Given the description of an element on the screen output the (x, y) to click on. 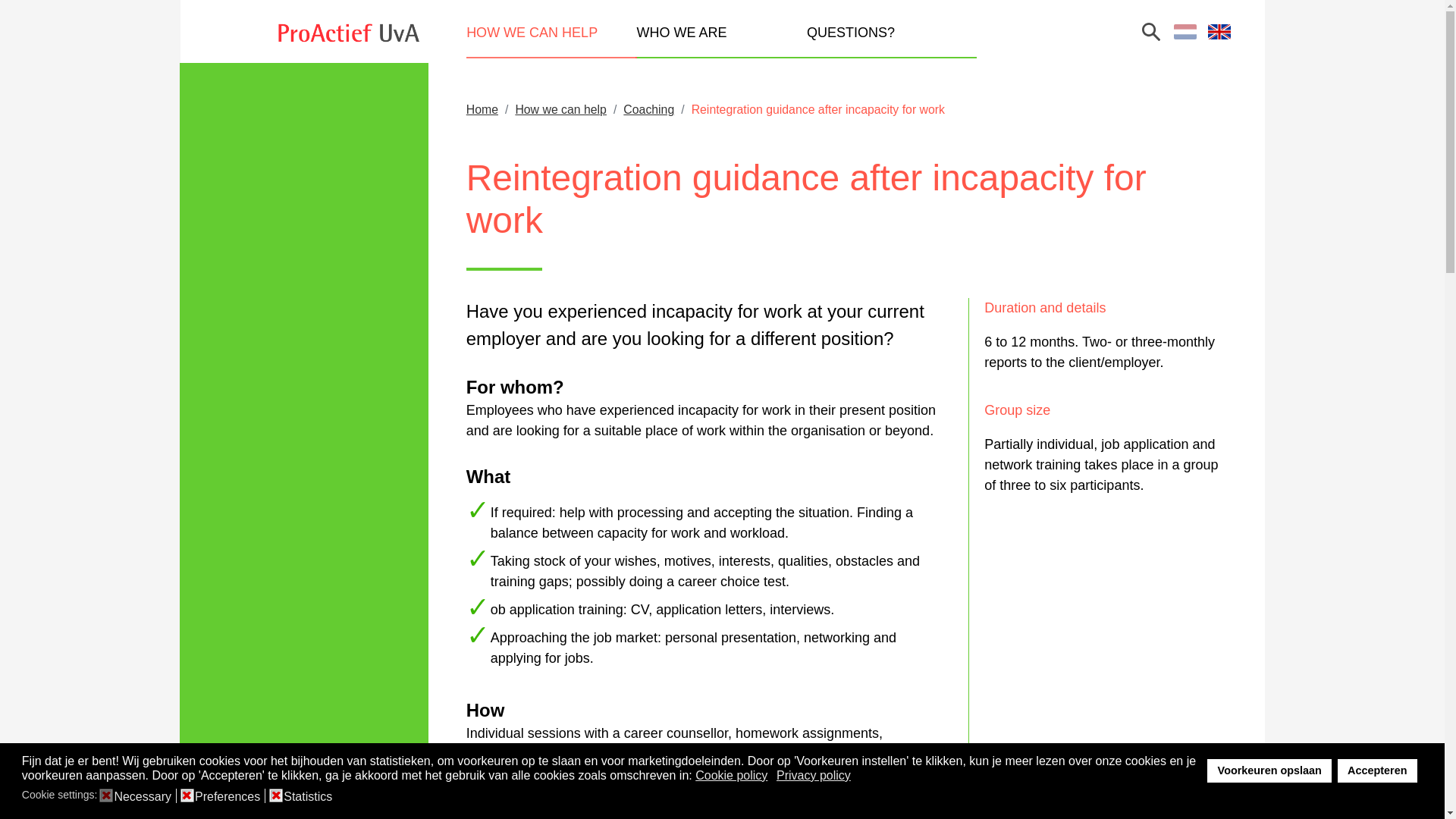
Home (481, 109)
Privacy policy (814, 775)
Preferences (229, 795)
How we can help (561, 109)
Nederlands (1184, 31)
Necessary (144, 795)
Voorkeuren opslaan (1269, 770)
Cookie policy (732, 775)
QUESTIONS? (891, 40)
